Given the description of an element on the screen output the (x, y) to click on. 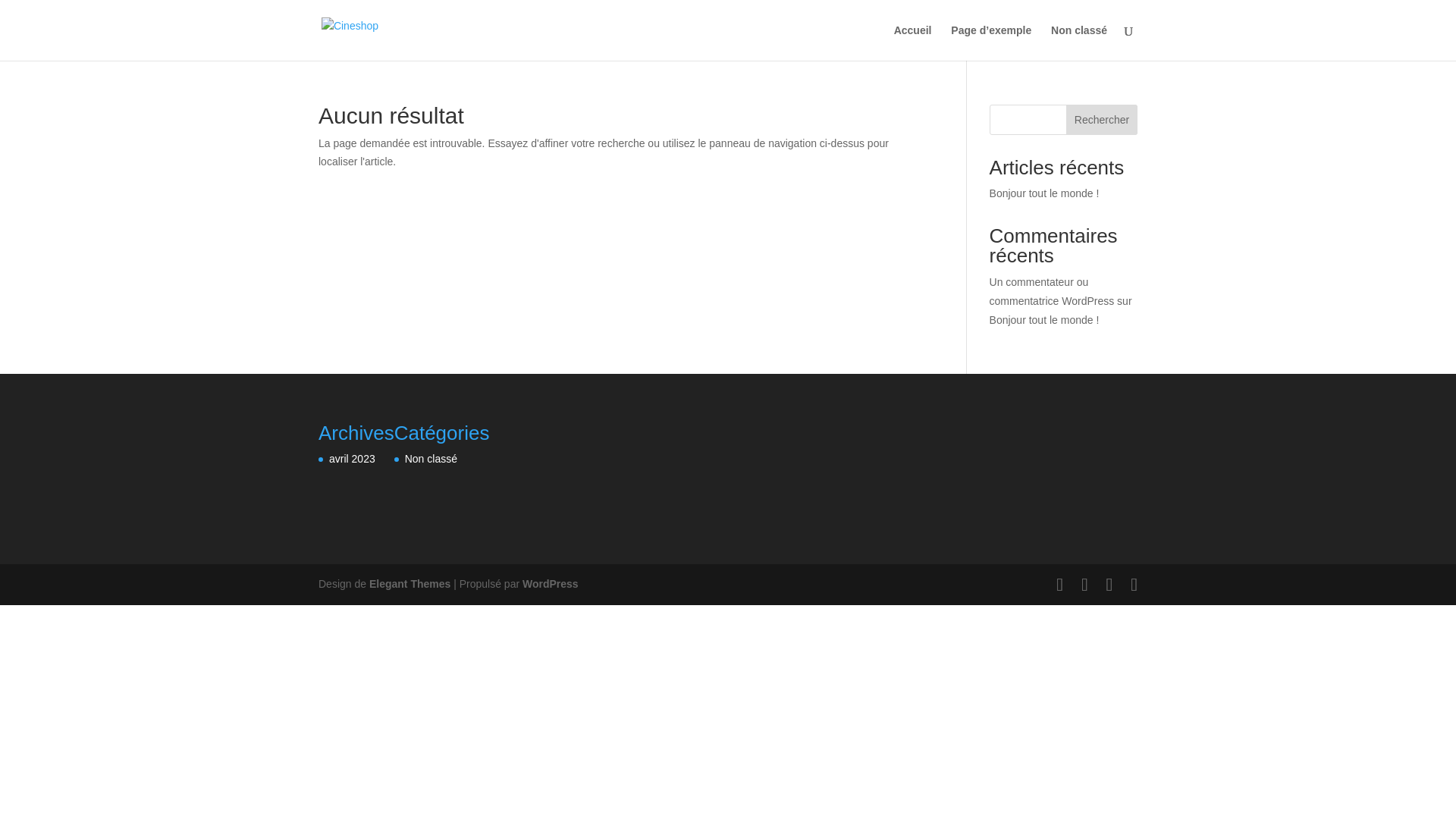
Bonjour tout le monde ! Element type: text (1044, 193)
WordPress Element type: text (550, 583)
Bonjour tout le monde ! Element type: text (1044, 319)
Elegant Themes Element type: text (409, 583)
Accueil Element type: text (912, 42)
Rechercher Element type: text (1101, 119)
Un commentateur ou commentatrice WordPress Element type: text (1051, 291)
avril 2023 Element type: text (352, 458)
